Given the description of an element on the screen output the (x, y) to click on. 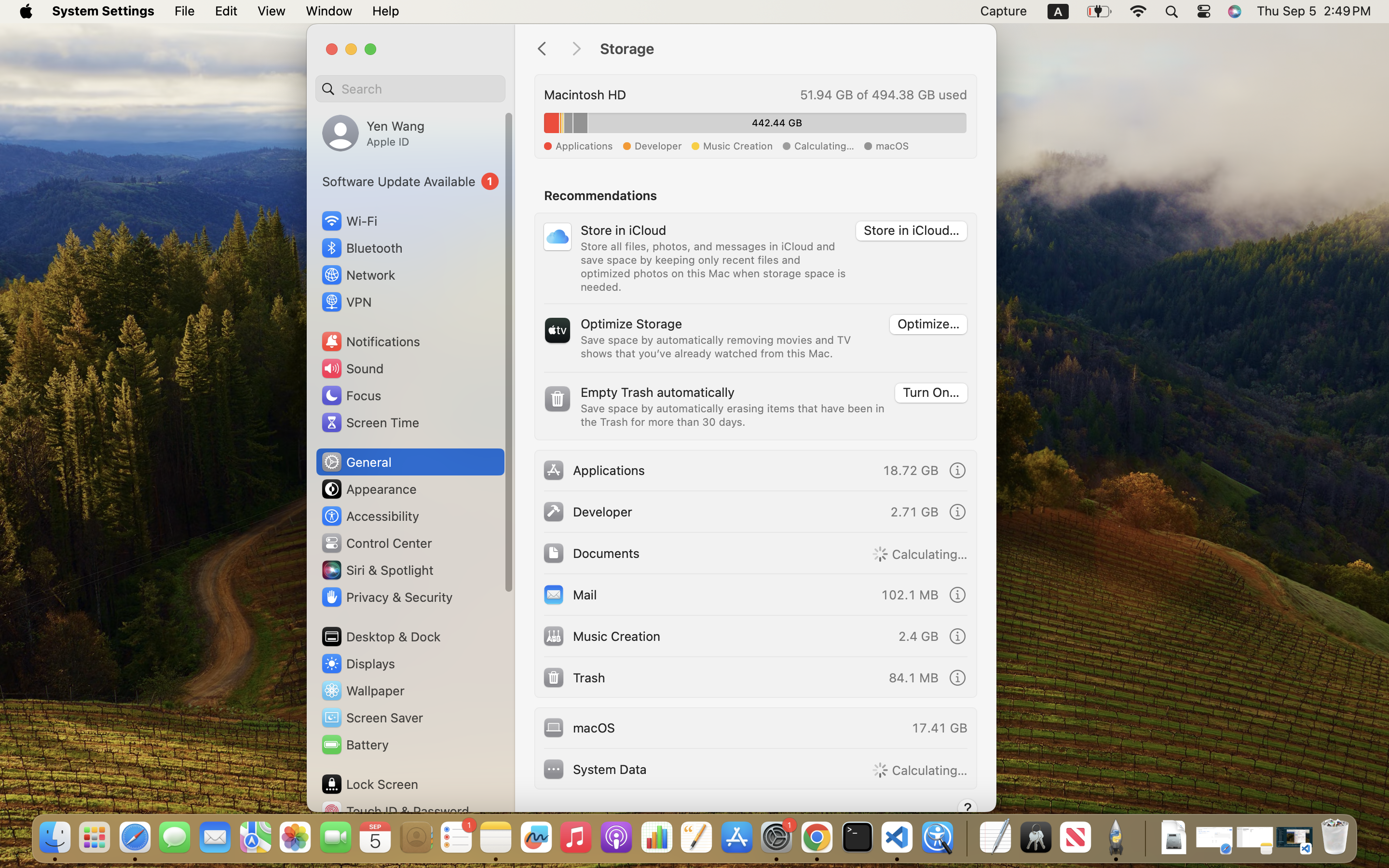
Applications Element type: AXStaticText (593, 469)
Sound Element type: AXStaticText (351, 367)
Lock Screen Element type: AXStaticText (369, 783)
18.72 GB Element type: AXStaticText (910, 469)
Network Element type: AXStaticText (357, 274)
